Given the description of an element on the screen output the (x, y) to click on. 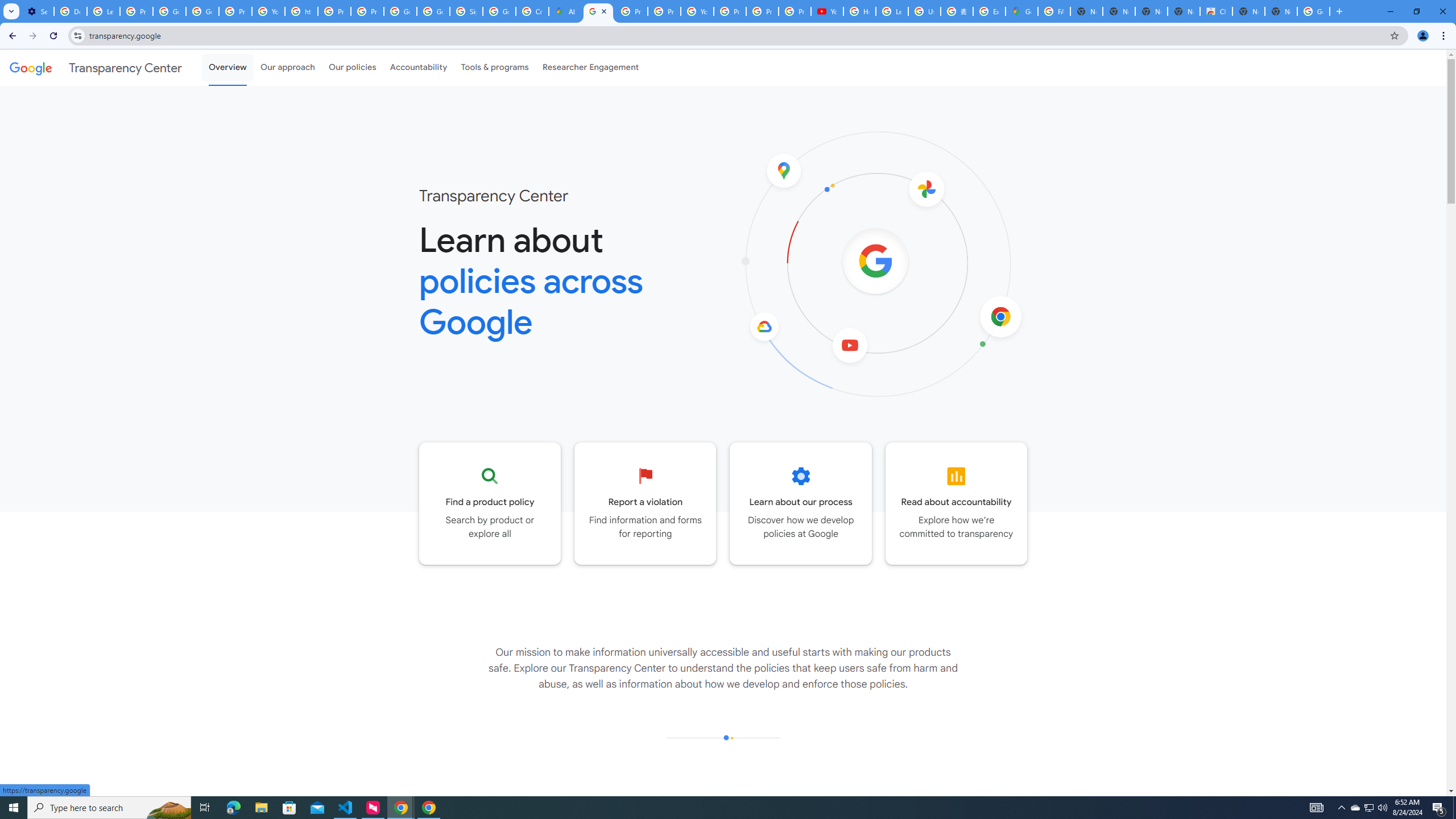
Google Account Help (169, 11)
How Chrome protects your passwords - Google Chrome Help (859, 11)
YouTube (827, 11)
Go to the Product policy page (490, 503)
https://scholar.google.com/ (301, 11)
Sign in - Google Accounts (465, 11)
Chrome Web Store (1216, 11)
YouTube (697, 11)
Google Images (1313, 11)
Privacy Help Center - Policies Help (631, 11)
